Given the description of an element on the screen output the (x, y) to click on. 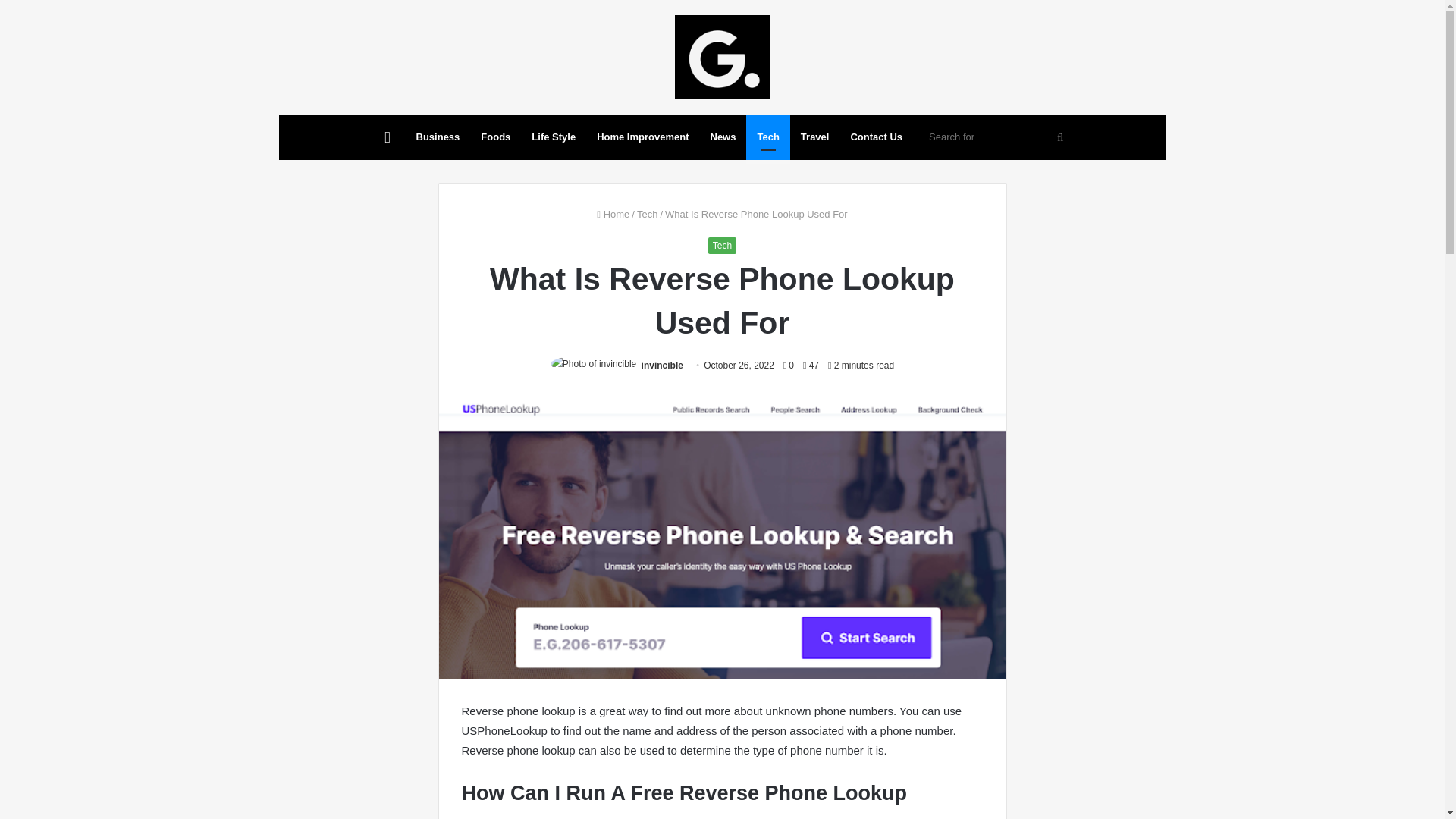
Tech (647, 214)
Search for (998, 136)
Life Style (553, 136)
Galaxy Of Trian (722, 57)
Home Improvement (642, 136)
invincible (662, 365)
Tech (721, 245)
Travel (815, 136)
Foods (495, 136)
News (721, 136)
Home (612, 214)
Contact Us (876, 136)
Tech (767, 136)
invincible (662, 365)
Business (438, 136)
